Given the description of an element on the screen output the (x, y) to click on. 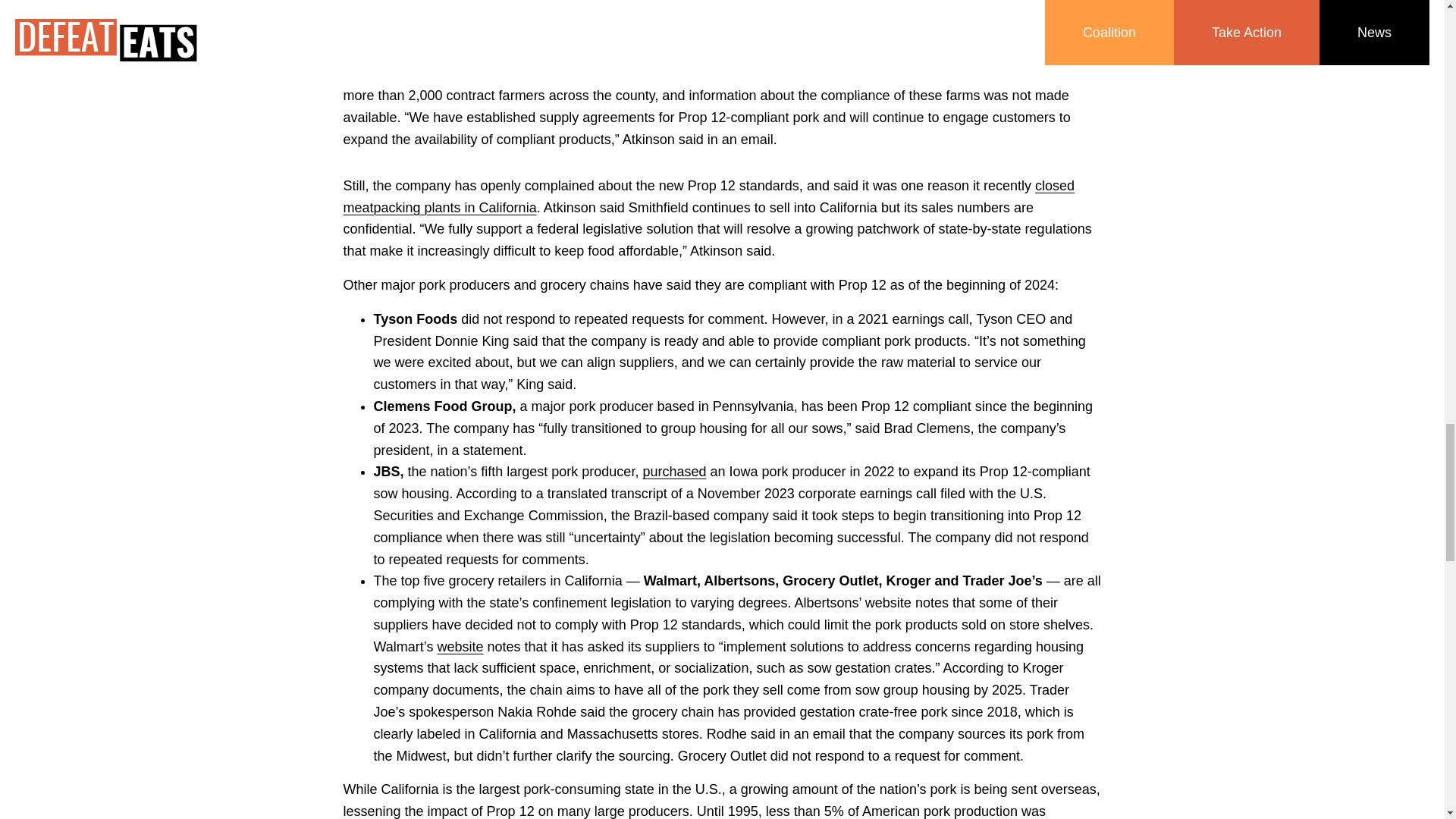
closed meatpacking plants in California (708, 196)
purchased (674, 471)
website (460, 646)
